Given the description of an element on the screen output the (x, y) to click on. 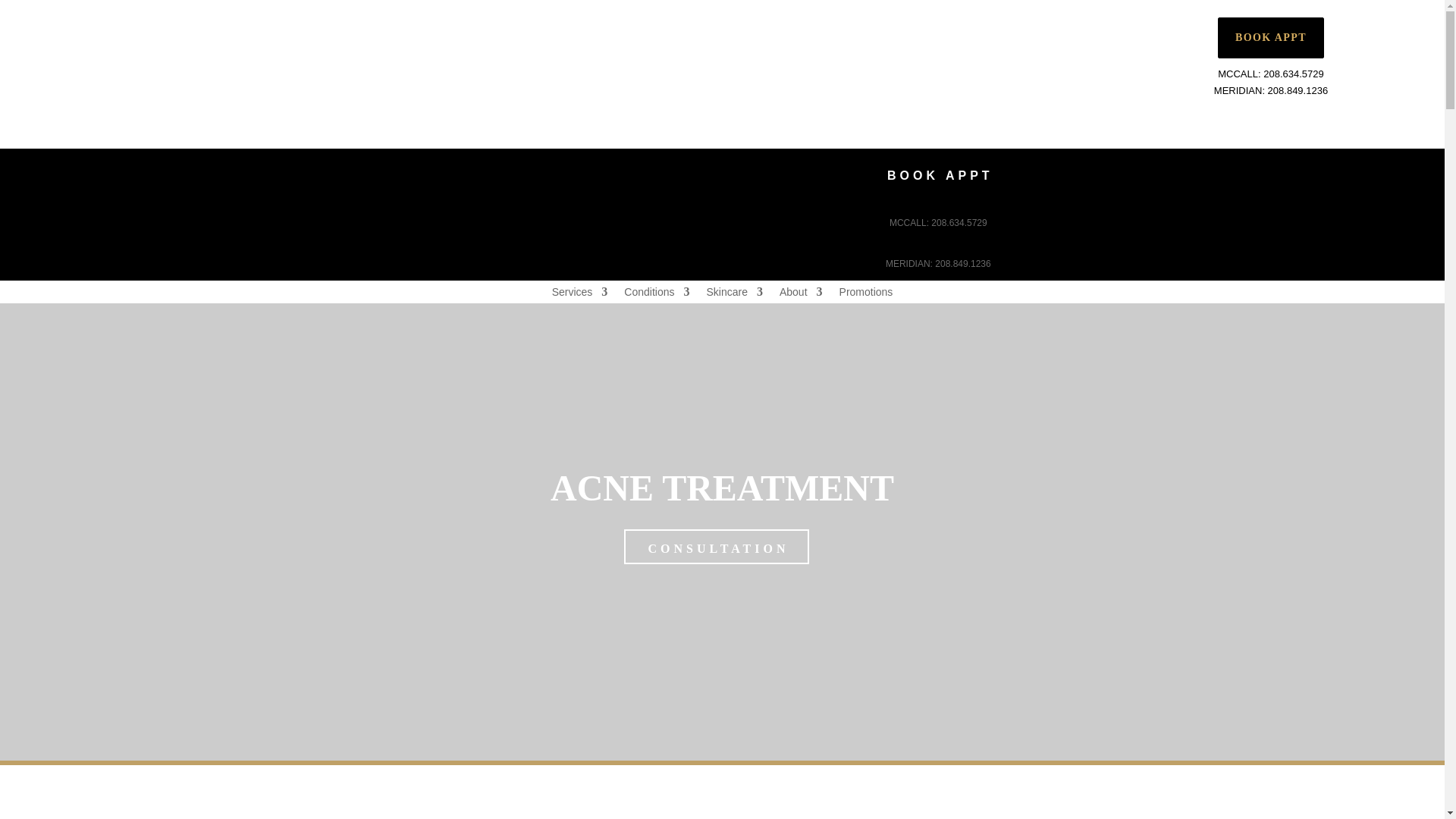
About (800, 294)
CAREERS (672, 27)
MEMBERSHIP (585, 27)
Services (579, 294)
Services (579, 294)
BLOG (882, 27)
Skincare (733, 294)
REQUEST A CONSULT (784, 27)
Conditions (656, 294)
BOOK APPT (1270, 37)
BOOK APPT (938, 173)
Promotions (866, 294)
CONSULTATION (716, 546)
Skincare (733, 294)
